Given the description of an element on the screen output the (x, y) to click on. 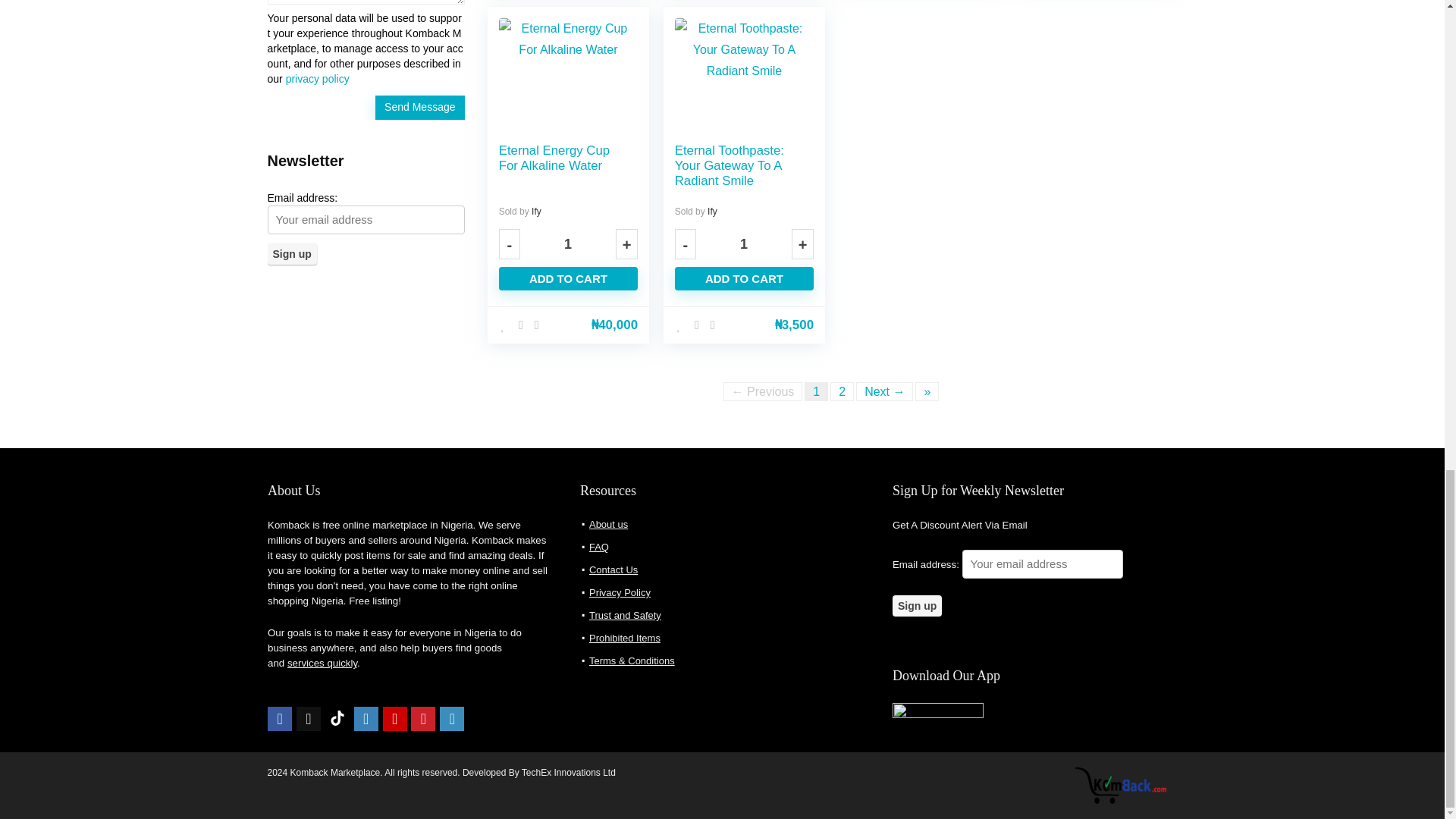
TikTok (336, 718)
Qty (743, 244)
Linkedin (451, 718)
twitter (308, 718)
Last (927, 391)
Qty (567, 244)
1 (567, 244)
1 (743, 244)
Youtube (394, 718)
Facebook (279, 718)
